Given the description of an element on the screen output the (x, y) to click on. 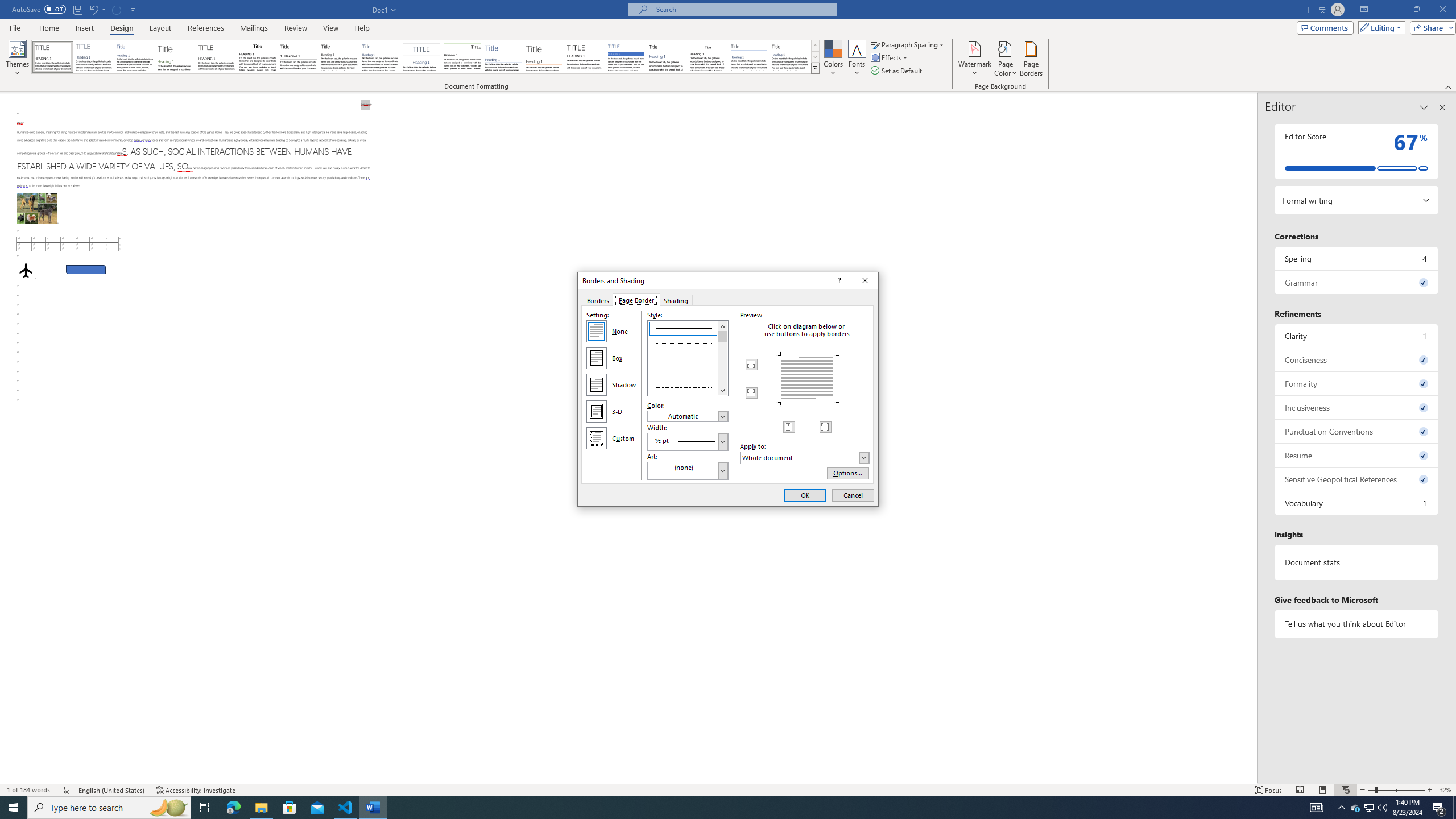
Left Border (788, 426)
Visual Studio Code - 1 running window (345, 807)
3-D (596, 411)
Clarity, 1 issue. Press space or enter to review items. (1356, 335)
Word 2013 (790, 56)
Class: NetUIScrollBar (1251, 437)
Word Count 1 of 184 words (28, 790)
Lines (Simple) (503, 56)
AutomationID: 37 (722, 358)
Conciseness, 0 issues. Press space or enter to review items. (1356, 359)
Bottom Border (751, 392)
